Given the description of an element on the screen output the (x, y) to click on. 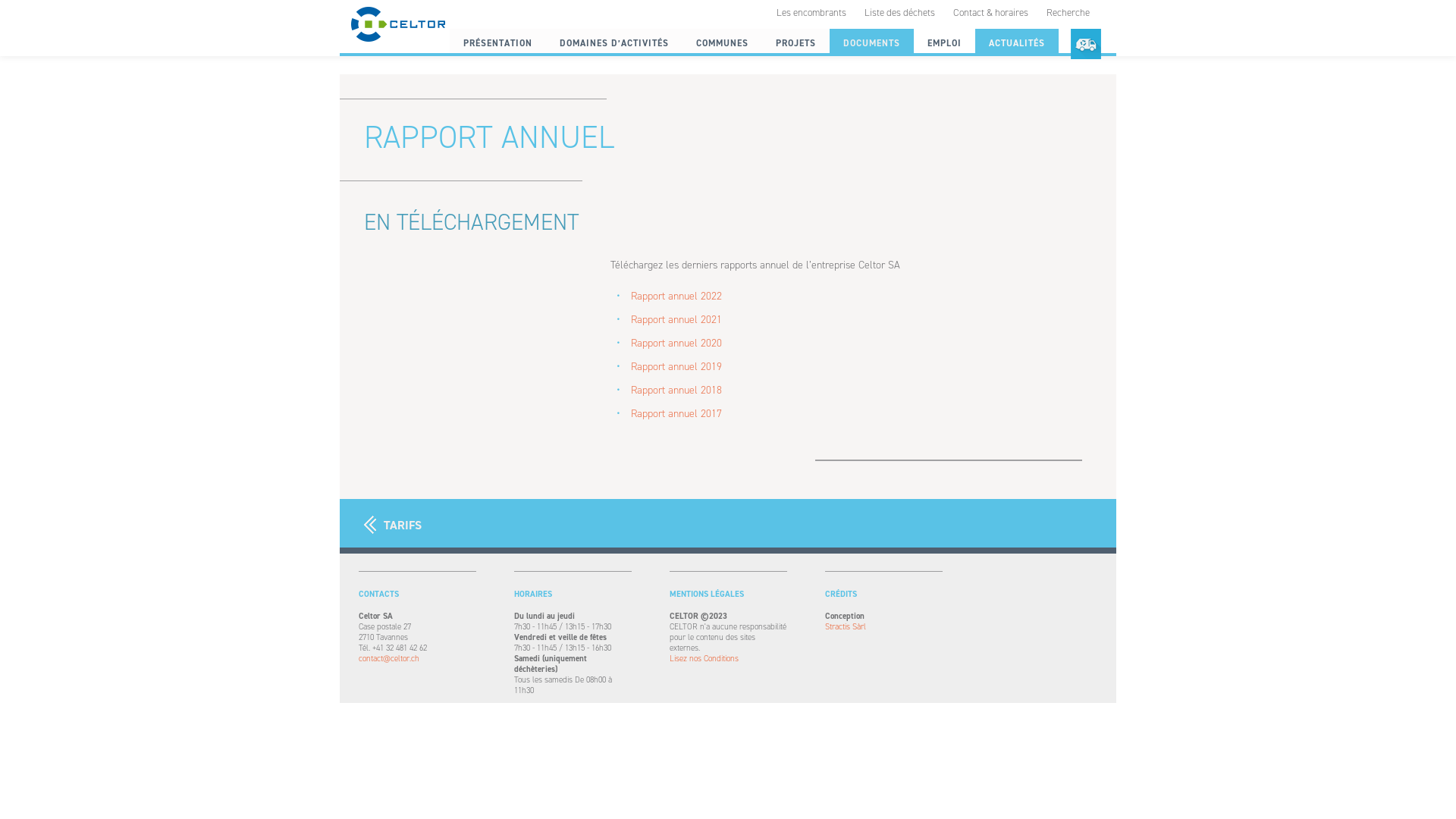
Rapport annuel 2018 Element type: text (675, 389)
Rapport annuel 2019 Element type: text (675, 366)
TARIFS Element type: text (392, 525)
COMMUNES Element type: text (722, 43)
contact@celtor.ch Element type: text (416, 658)
Recherche Element type: text (1067, 12)
PROJETS Element type: text (795, 43)
Lisez nos Conditions Element type: text (727, 658)
DOCUMENTS Element type: text (871, 43)
Les encombrants Element type: text (811, 12)
EMPLOI Element type: text (944, 43)
Rapport annuel 2022 Element type: text (675, 295)
Contact & horaires Element type: text (990, 12)
Rapport annuel 2021 Element type: text (675, 319)
Rapport annuel 2020 Element type: text (675, 342)
Rapport annuel 2017 Element type: text (675, 413)
